Given the description of an element on the screen output the (x, y) to click on. 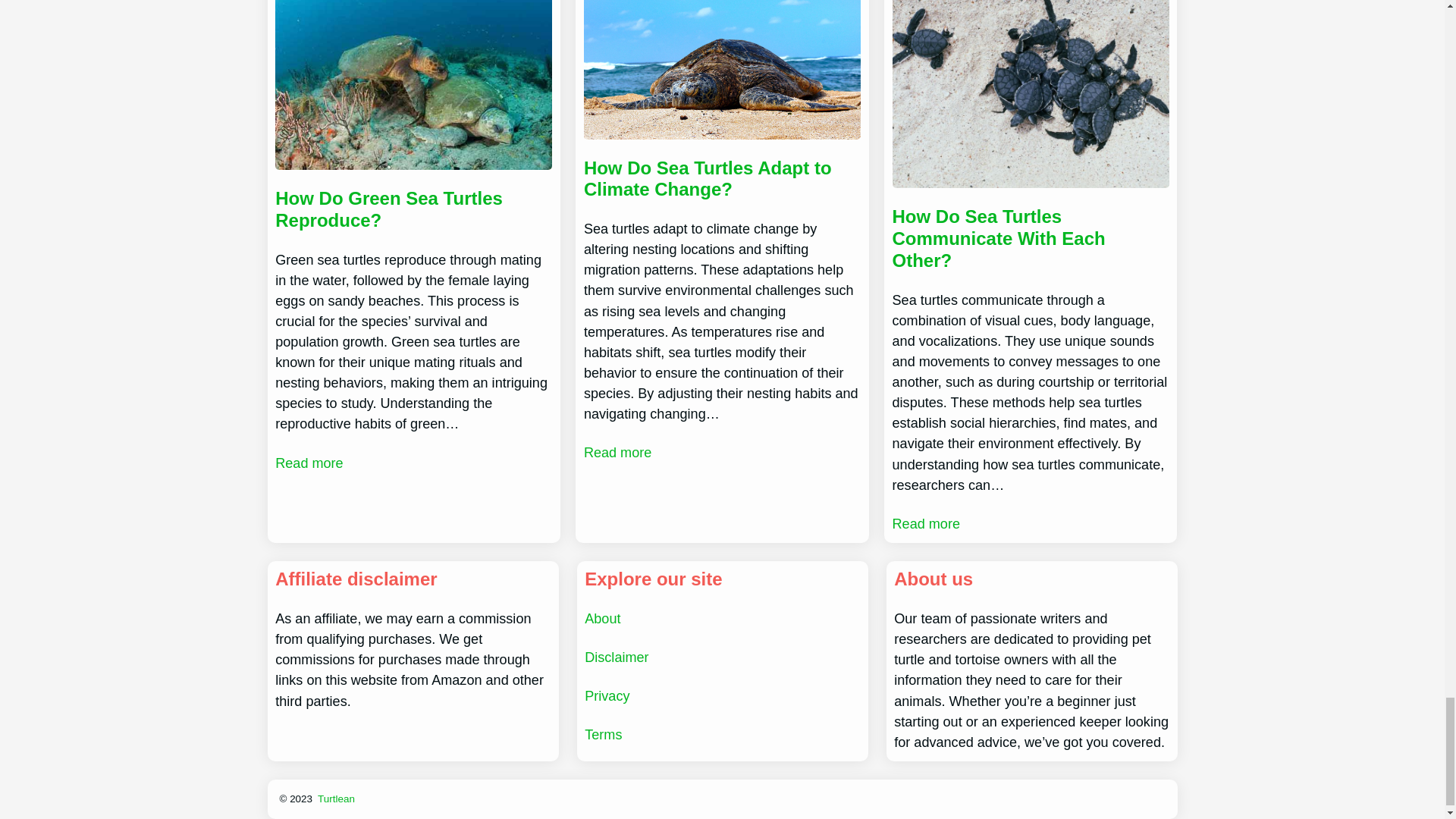
About (602, 618)
Read more (308, 463)
How Do Sea Turtles Adapt to Climate Change? (721, 179)
How Do Green Sea Turtles Reproduce? (413, 209)
Read more (925, 524)
Disclaimer (616, 657)
How Do Sea Turtles Communicate With Each Other? (1030, 238)
Read more (616, 453)
